Given the description of an element on the screen output the (x, y) to click on. 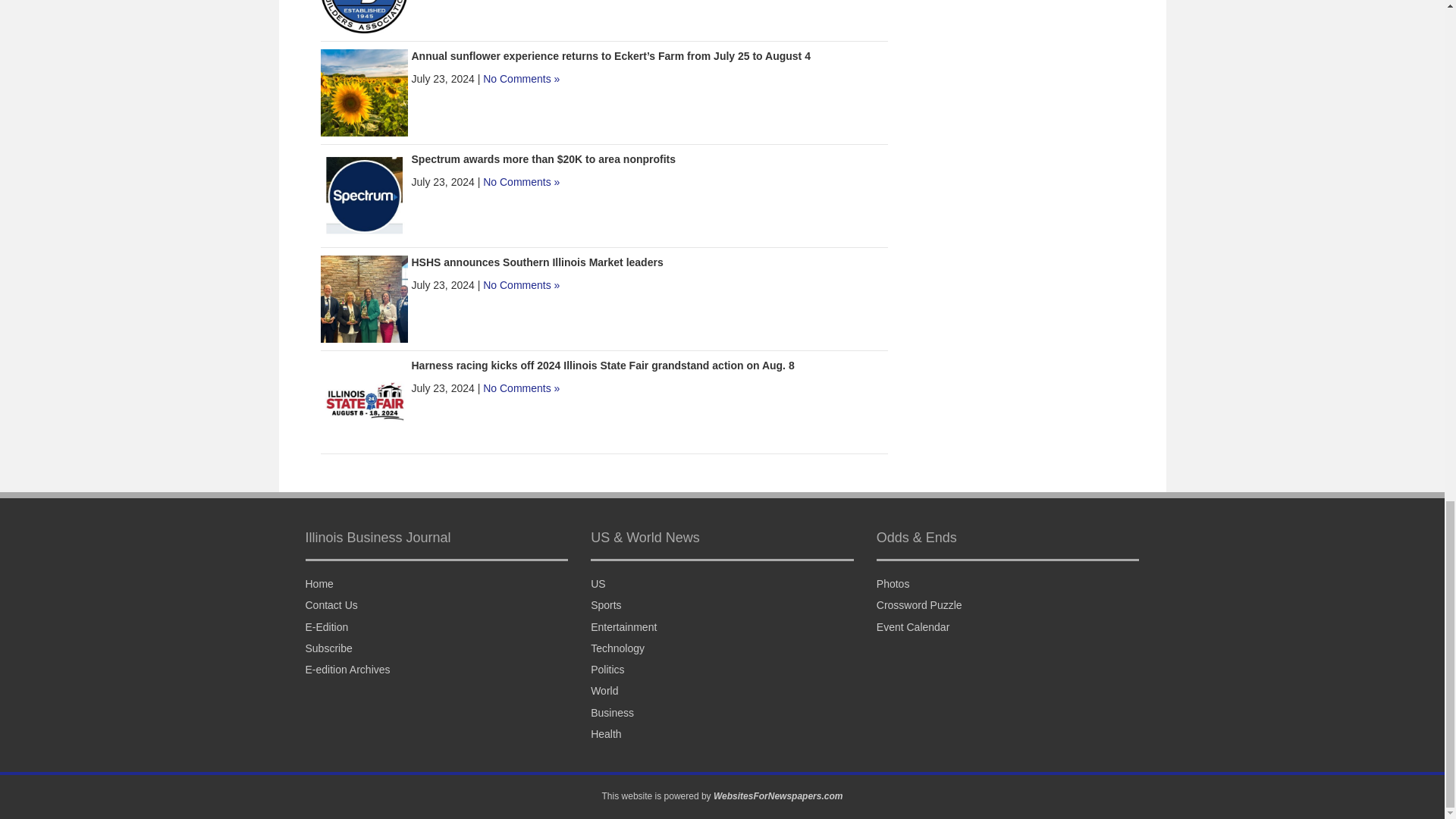
HSHS announces Southern Illinois Market leaders (536, 262)
HSHS announces Southern Illinois Market leaders (363, 297)
